Given the description of an element on the screen output the (x, y) to click on. 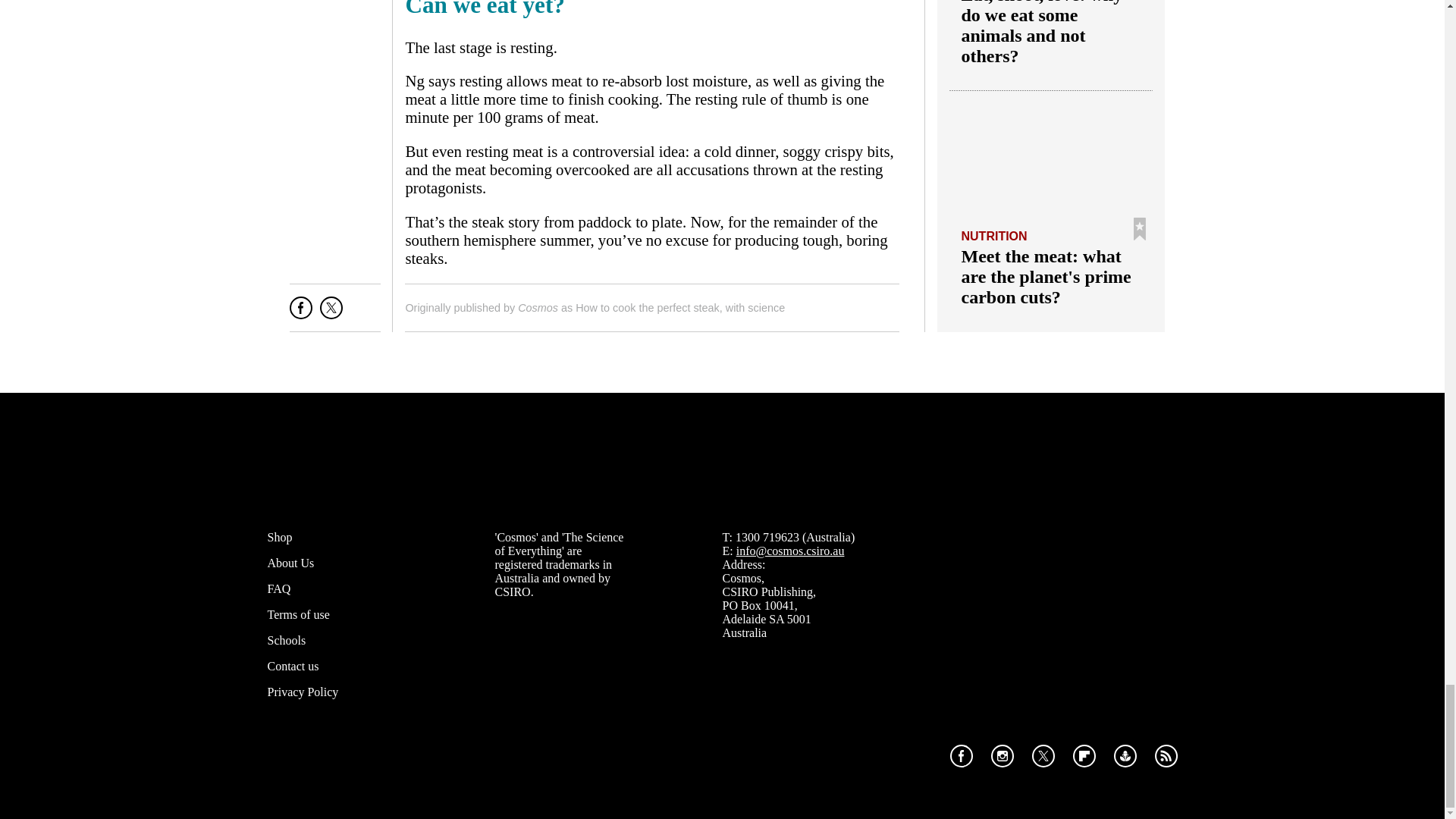
Share on Facebook (301, 313)
How to cook the perfect steak, with science (679, 307)
Tweet (331, 313)
